Given the description of an element on the screen output the (x, y) to click on. 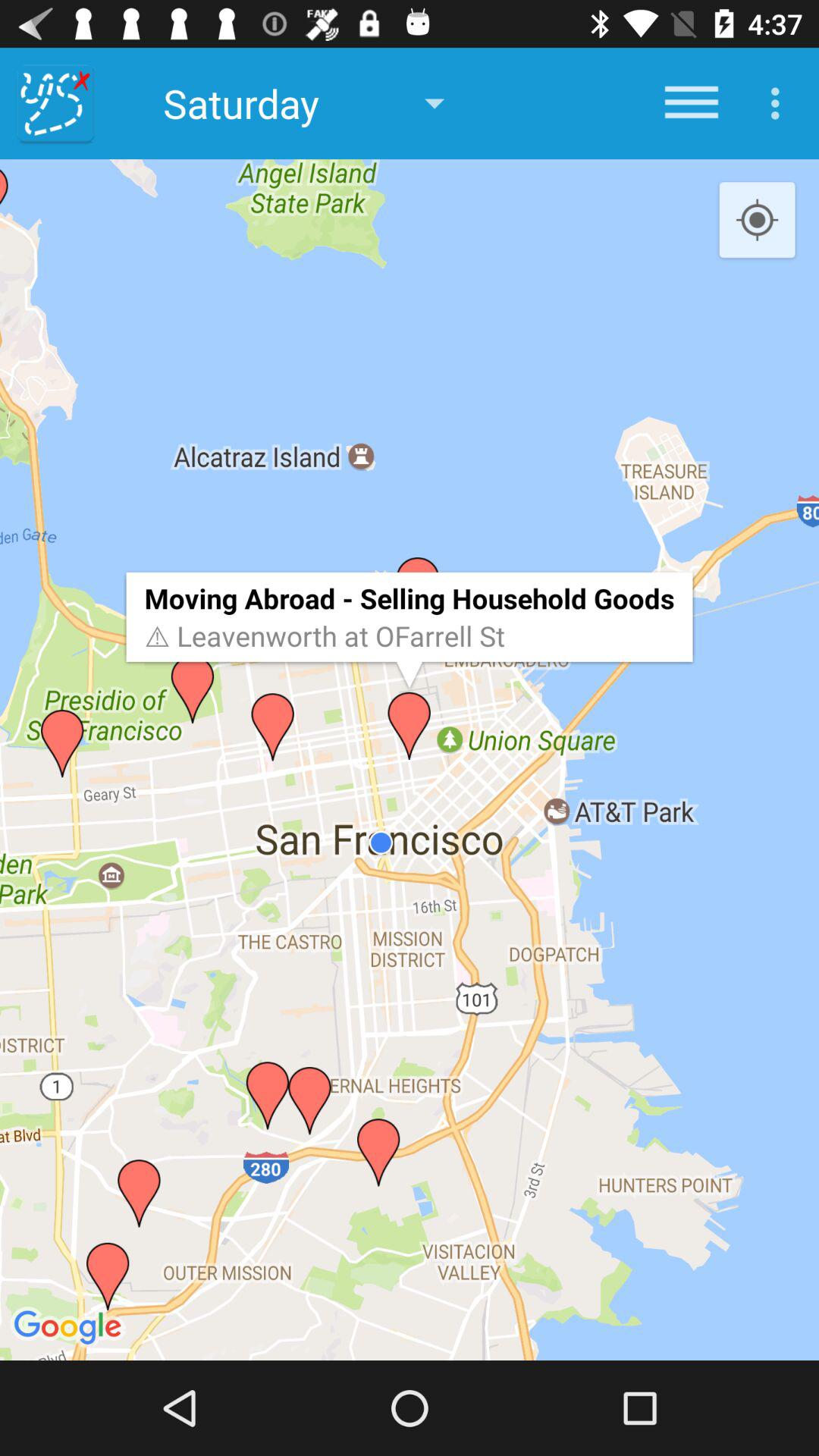
back to menu (55, 103)
